Given the description of an element on the screen output the (x, y) to click on. 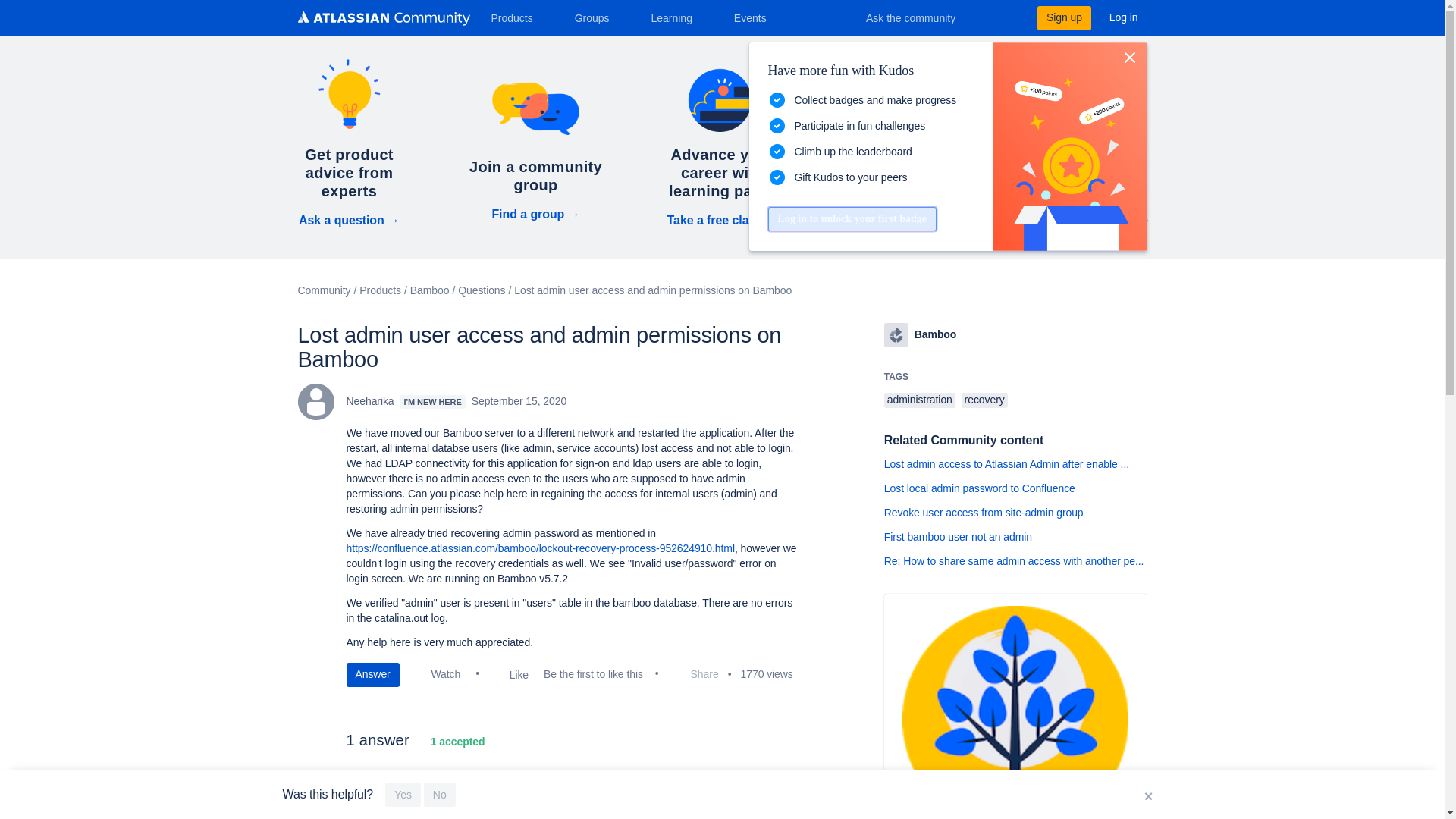
Neeharika (315, 402)
Ask the community  (921, 17)
Sign up (1063, 17)
Atlassian Community logo (382, 18)
Bamboo (895, 334)
Atlassian Community logo (382, 19)
Log in (1123, 17)
Learning (676, 17)
Events (756, 17)
Groups (598, 17)
Log in to unlock your first badge (851, 218)
Products (517, 17)
